Given the description of an element on the screen output the (x, y) to click on. 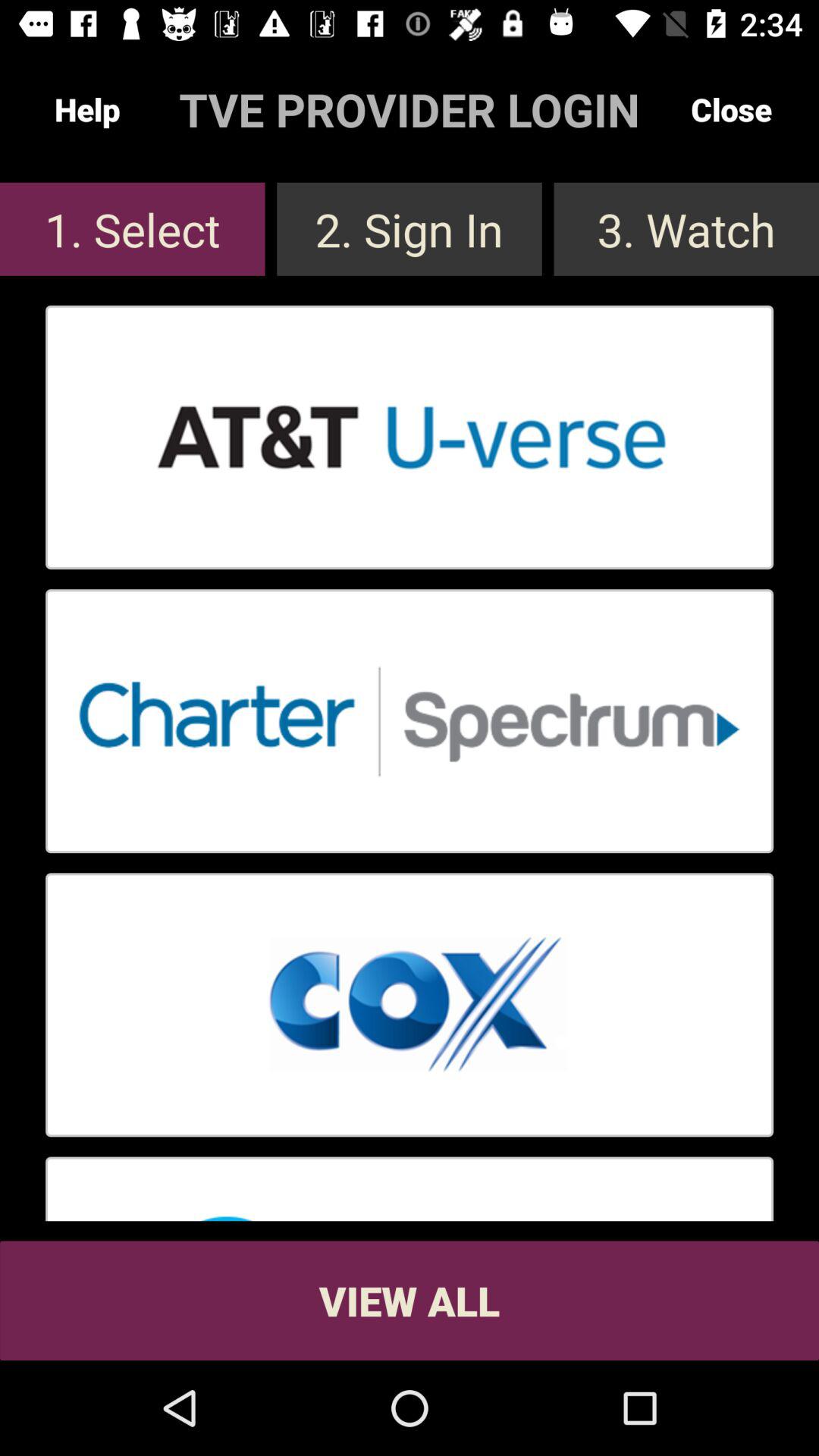
choose view all button (409, 1300)
